Given the description of an element on the screen output the (x, y) to click on. 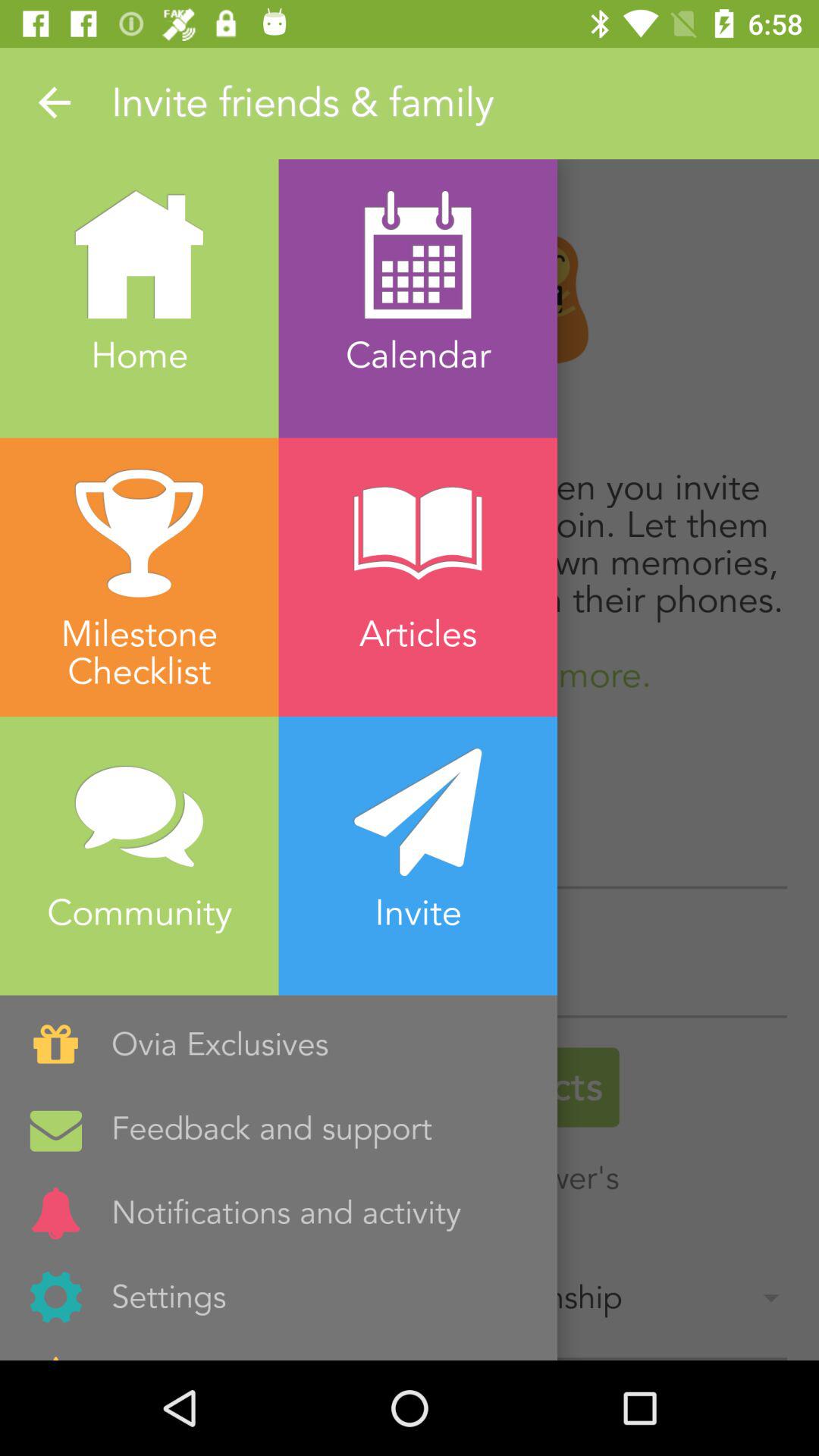
click on the text which is just beside the arrow mark (465, 103)
